Given the description of an element on the screen output the (x, y) to click on. 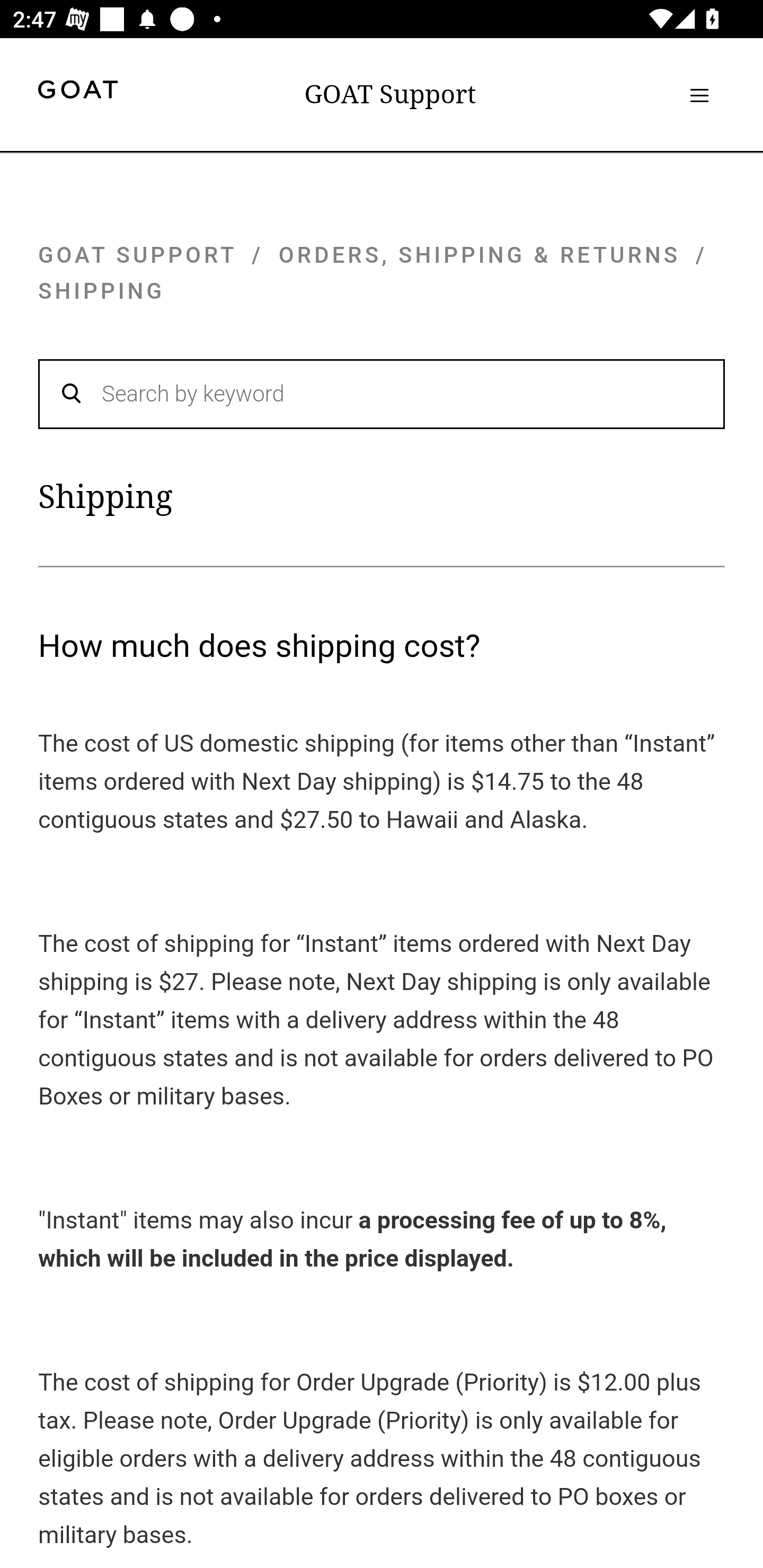
goat header logo (77, 92)
Toggle navigation menu (698, 94)
GOAT Support (389, 94)
GOAT SUPPORT (137, 254)
ORDERS, SHIPPING & RETURNS (480, 254)
SHIPPING (101, 291)
